Given the description of an element on the screen output the (x, y) to click on. 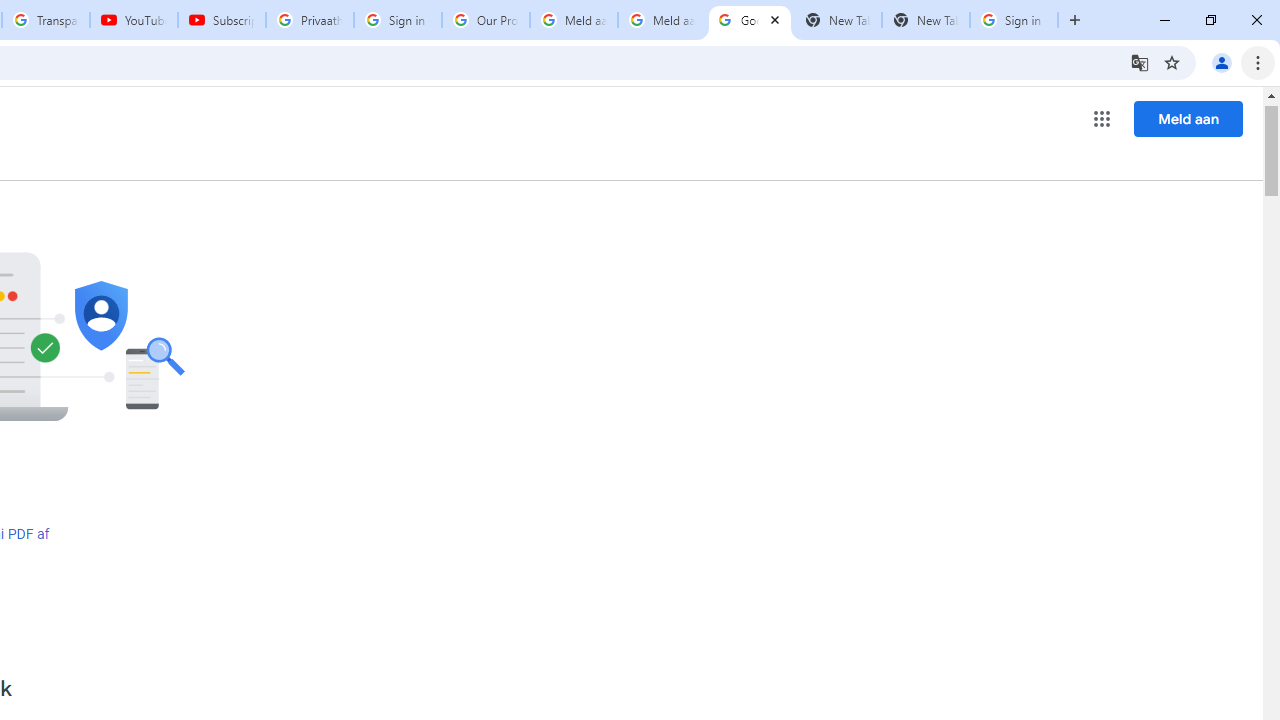
Sign in - Google Accounts (397, 20)
Sign in - Google Accounts (1014, 20)
Subscriptions - YouTube (221, 20)
Meld aan (1188, 118)
YouTube (133, 20)
